Given the description of an element on the screen output the (x, y) to click on. 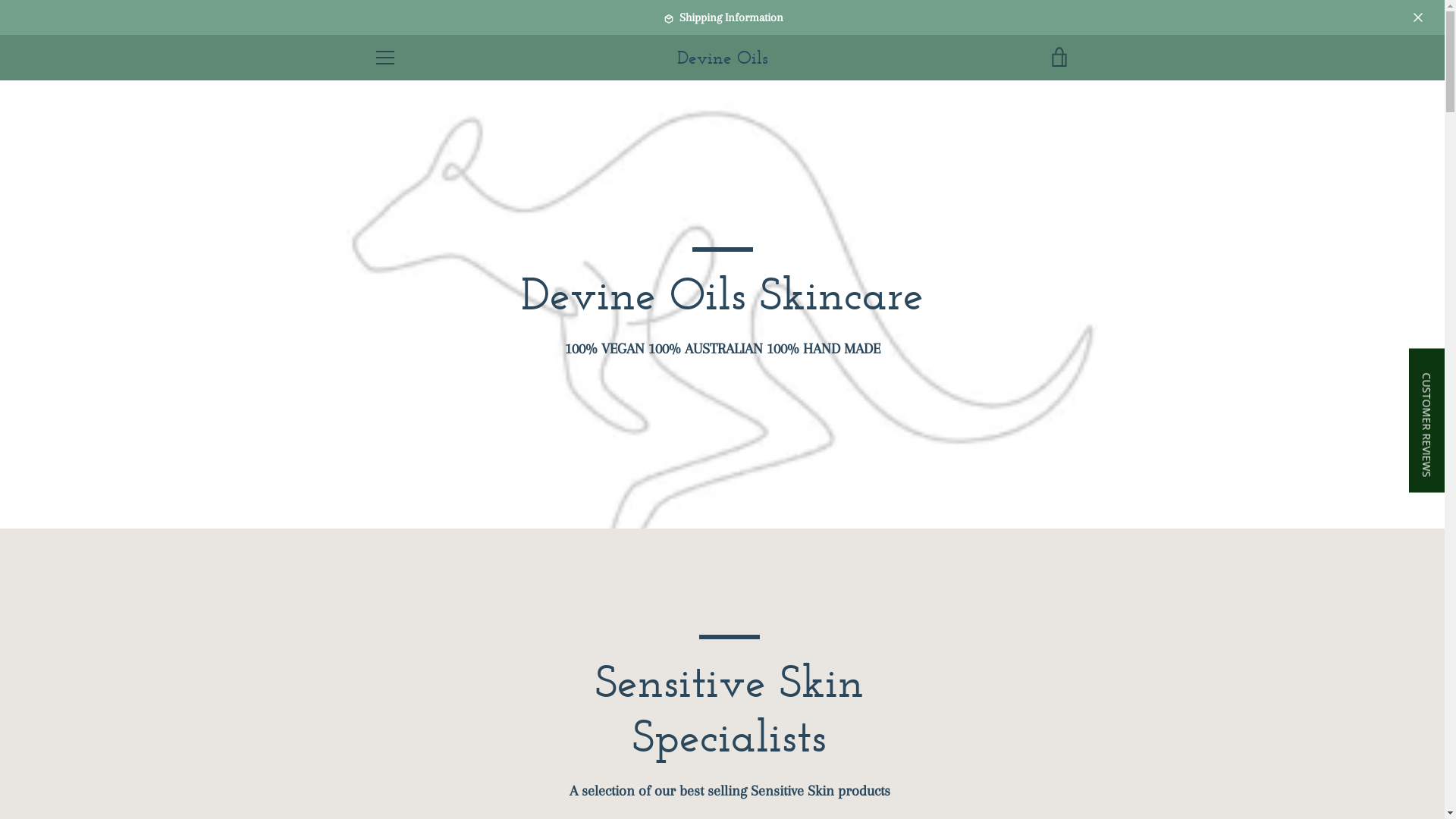
VIEW CART Element type: text (1059, 57)
Powered by Shopify Element type: text (544, 766)
Skip to content Element type: text (0, 0)
Devine Oils Element type: text (721, 58)
Shipping Information Element type: text (722, 17)
SUBSCRIBE Element type: text (1035, 679)
MENU Element type: text (384, 57)
Devine Oils Element type: text (478, 766)
